Given the description of an element on the screen output the (x, y) to click on. 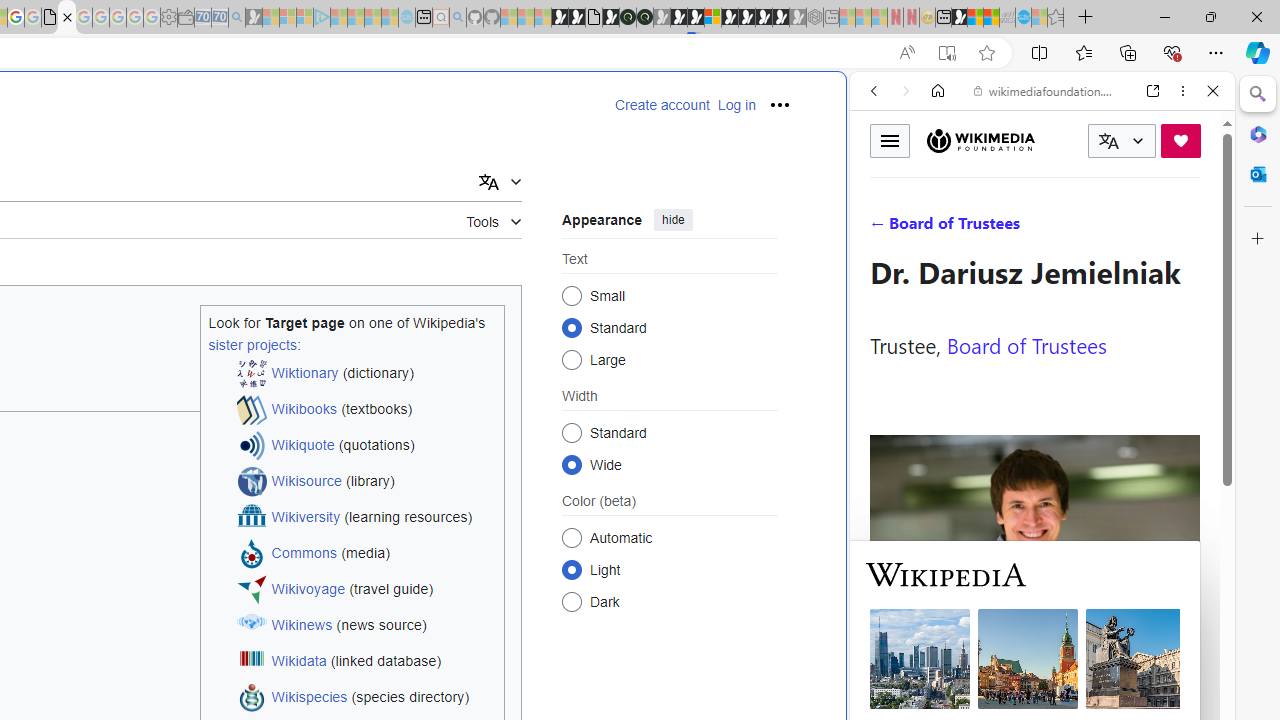
Small (571, 295)
Wikiversity (305, 517)
Wiktionary (1034, 669)
Target page - Wikipedia (66, 17)
Cheap Car Rentals - Save70.com - Sleeping (219, 17)
Wikisource (library) (366, 482)
Commons (304, 553)
